Given the description of an element on the screen output the (x, y) to click on. 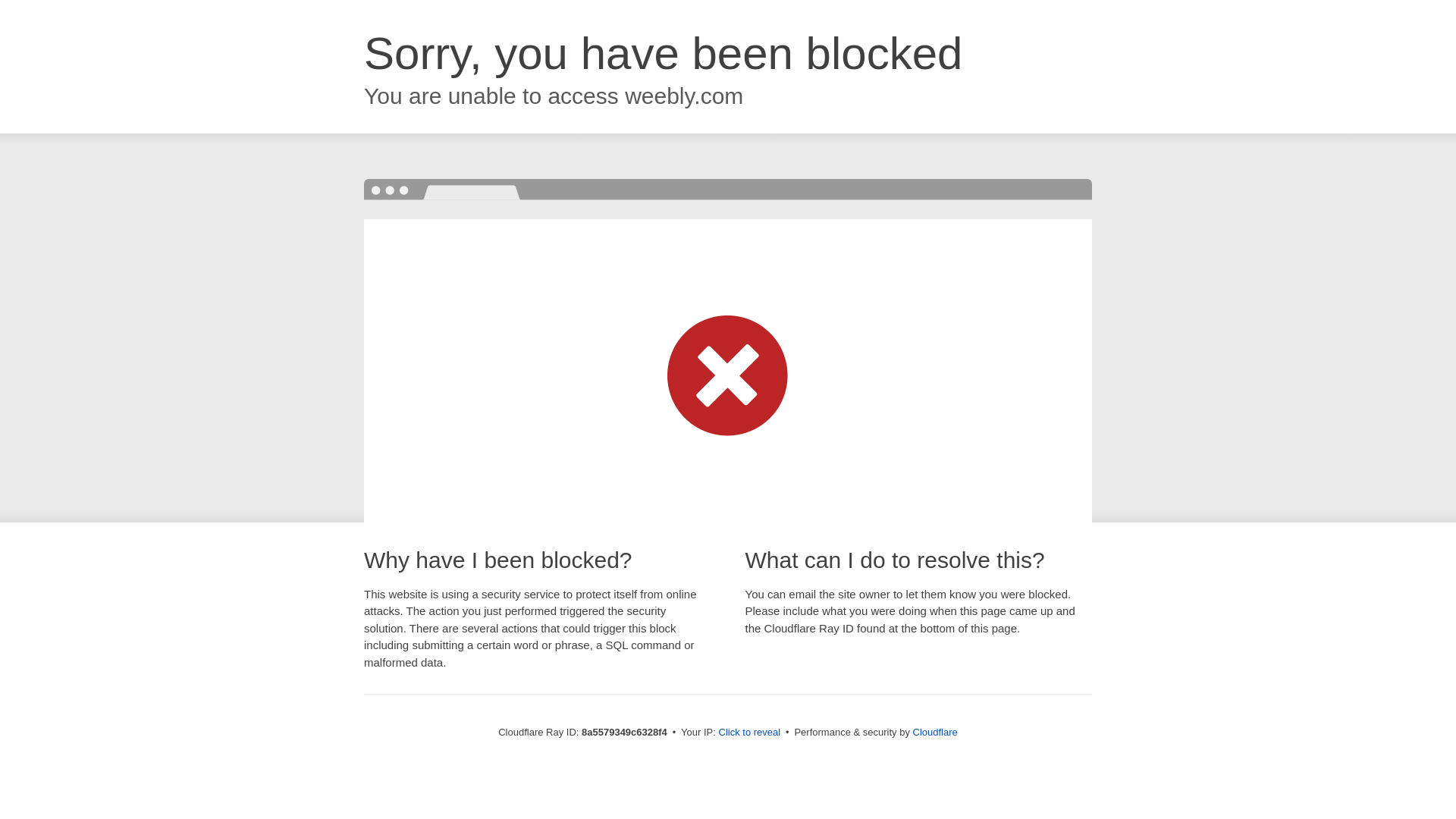
Click to reveal (749, 732)
Cloudflare (935, 731)
